Given the description of an element on the screen output the (x, y) to click on. 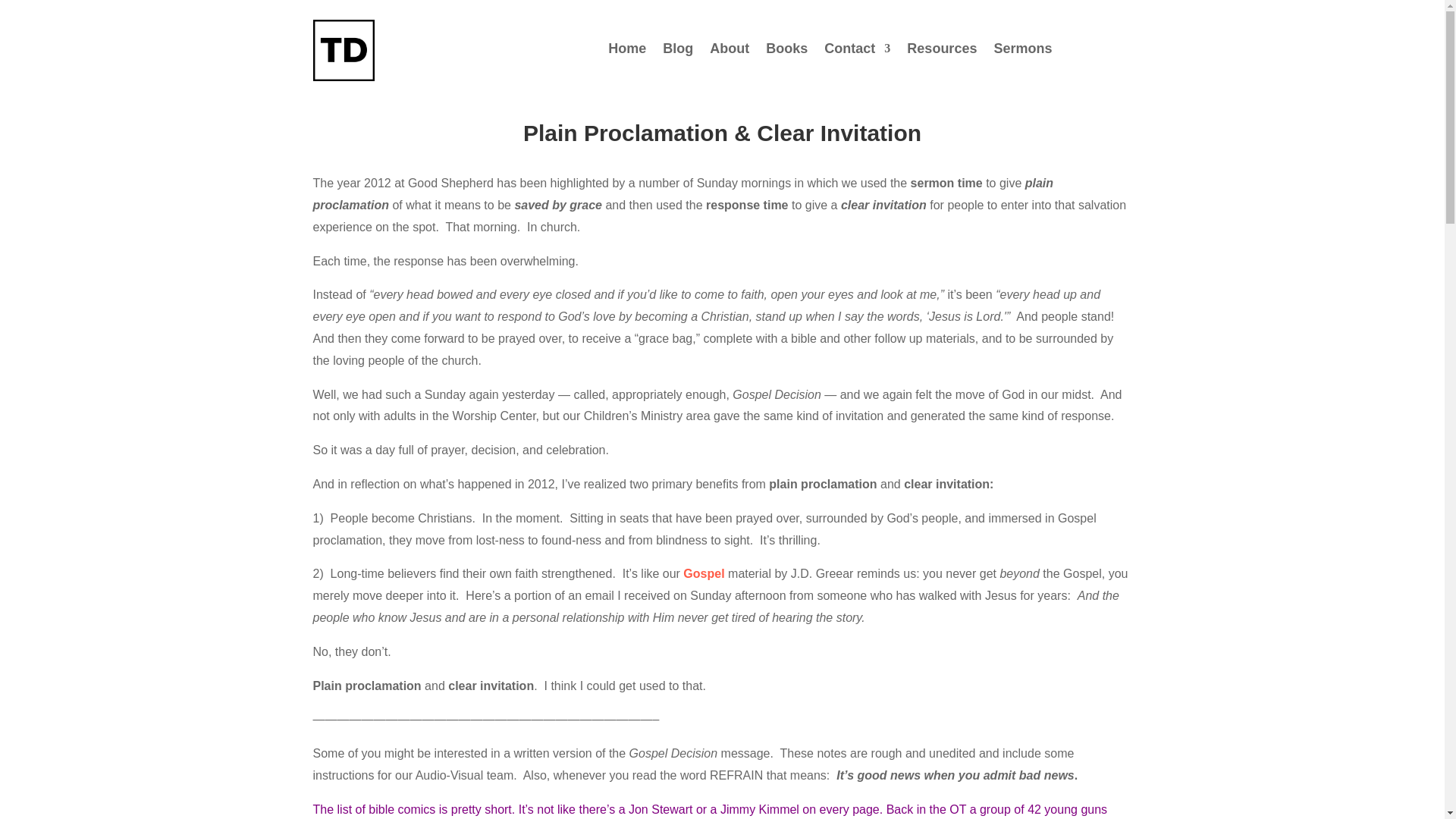
About (729, 51)
Blog (677, 51)
Home (627, 51)
Gospel (702, 573)
Resources (941, 51)
td-logo (343, 50)
Books (786, 51)
Sermons (1021, 51)
Contact (856, 51)
